Given the description of an element on the screen output the (x, y) to click on. 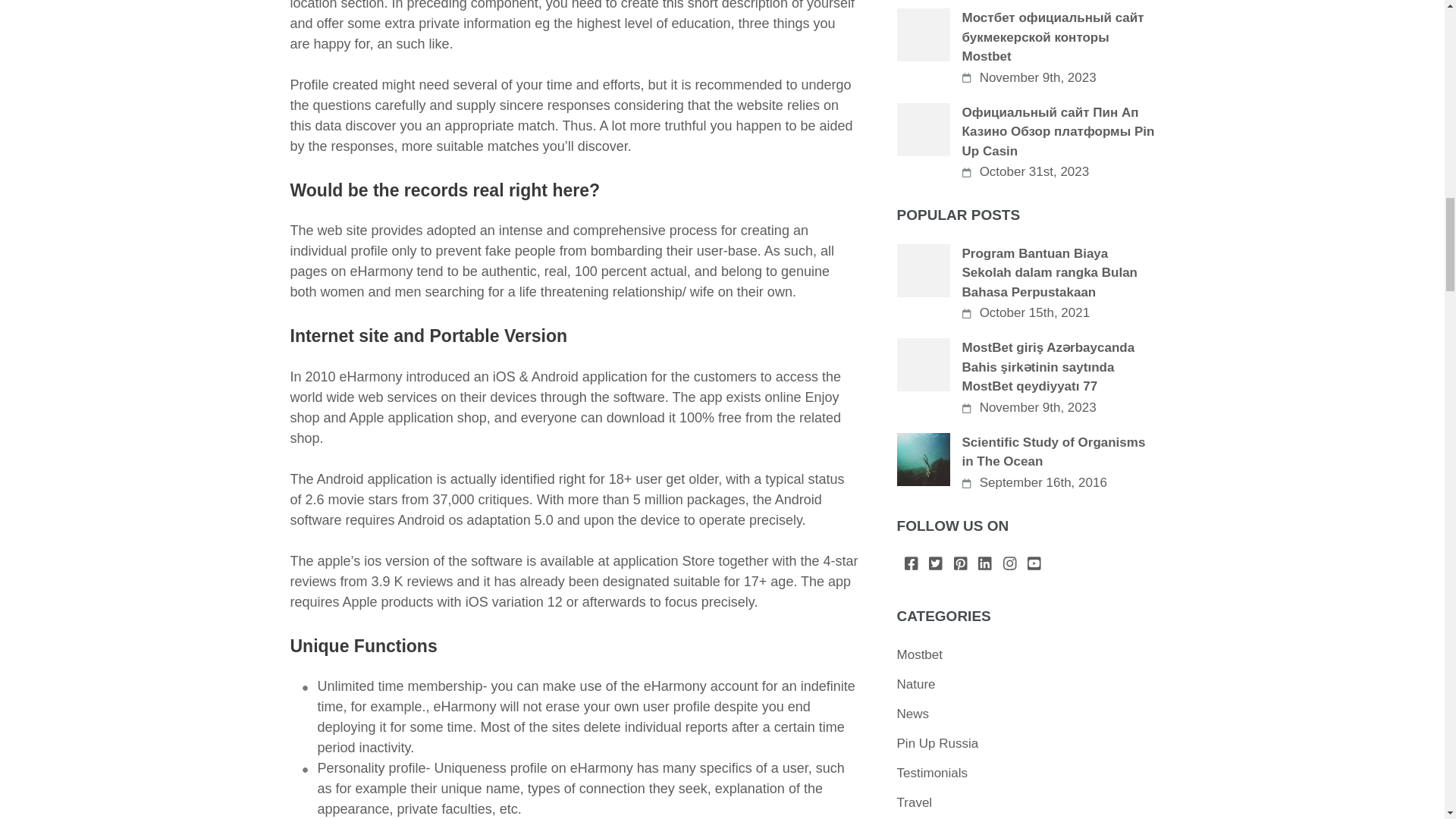
Facebook (911, 564)
Twitter (935, 564)
Pinterest (960, 564)
LinkedIn (984, 564)
